Given the description of an element on the screen output the (x, y) to click on. 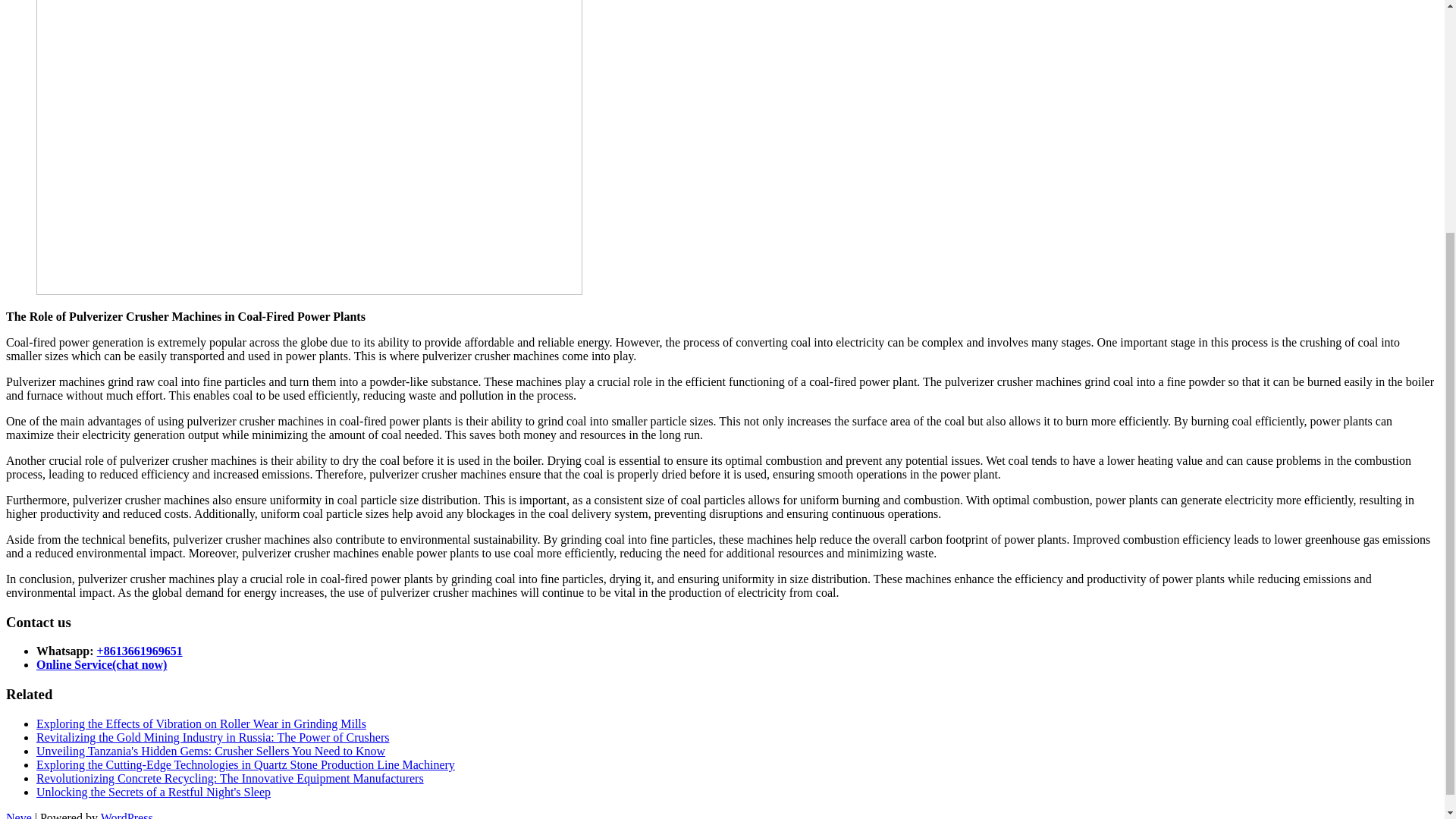
Unlocking the Secrets of a Restful Night's Sleep (153, 791)
